Given the description of an element on the screen output the (x, y) to click on. 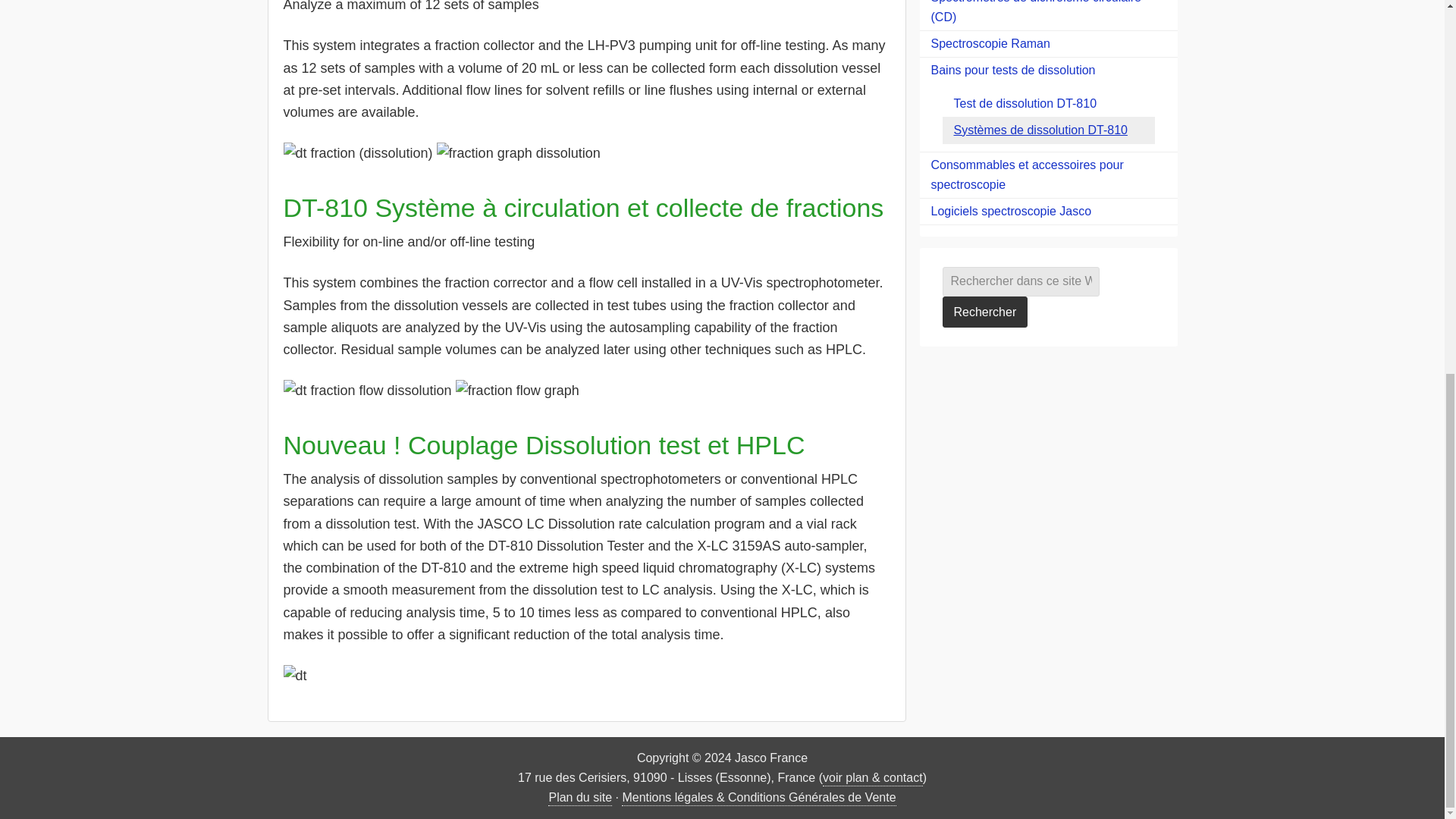
Rechercher (984, 311)
Spectroscopie Raman (1047, 43)
Rechercher (984, 311)
